Given the description of an element on the screen output the (x, y) to click on. 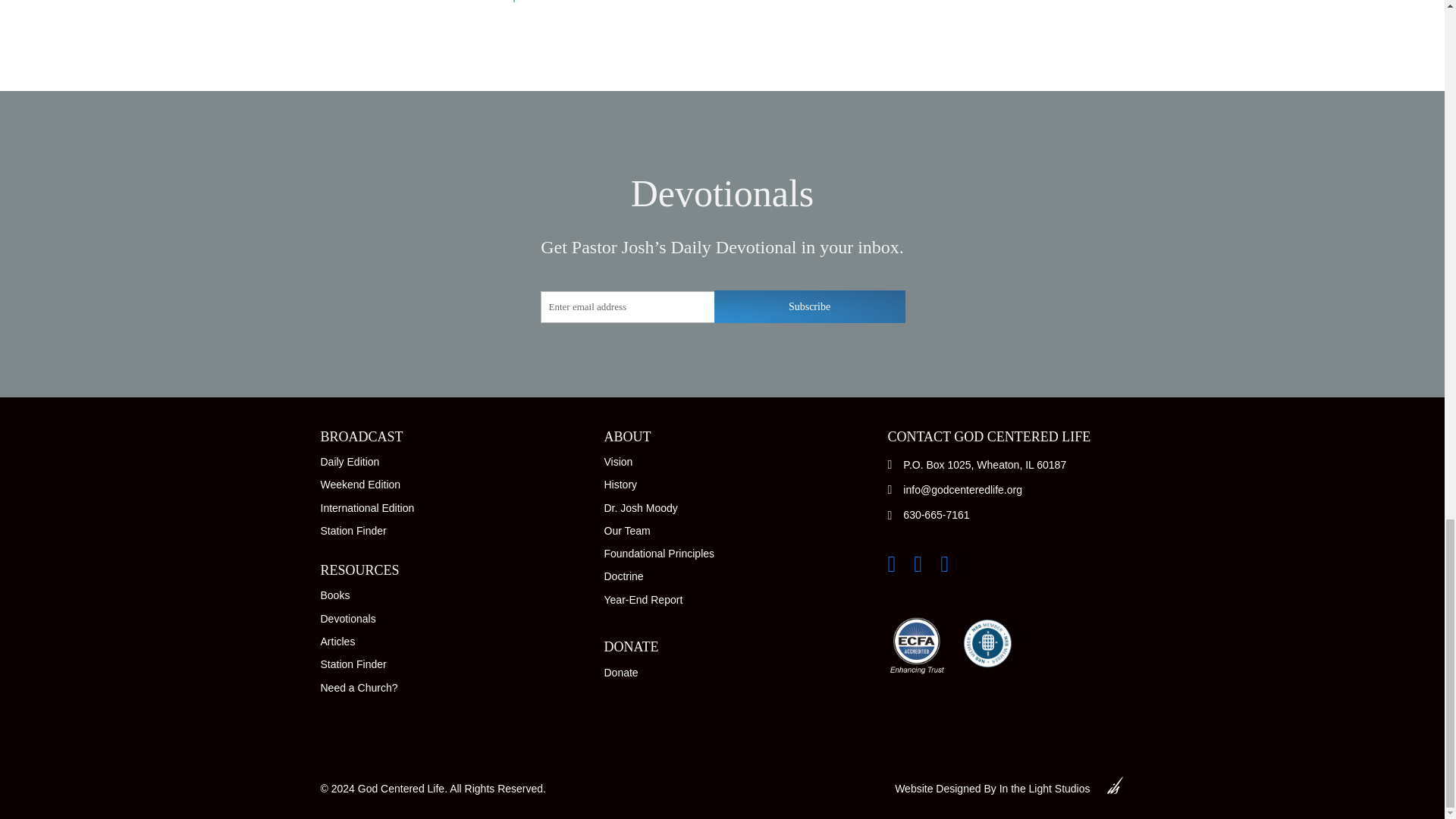
ILS-Logo (1114, 784)
